Given the description of an element on the screen output the (x, y) to click on. 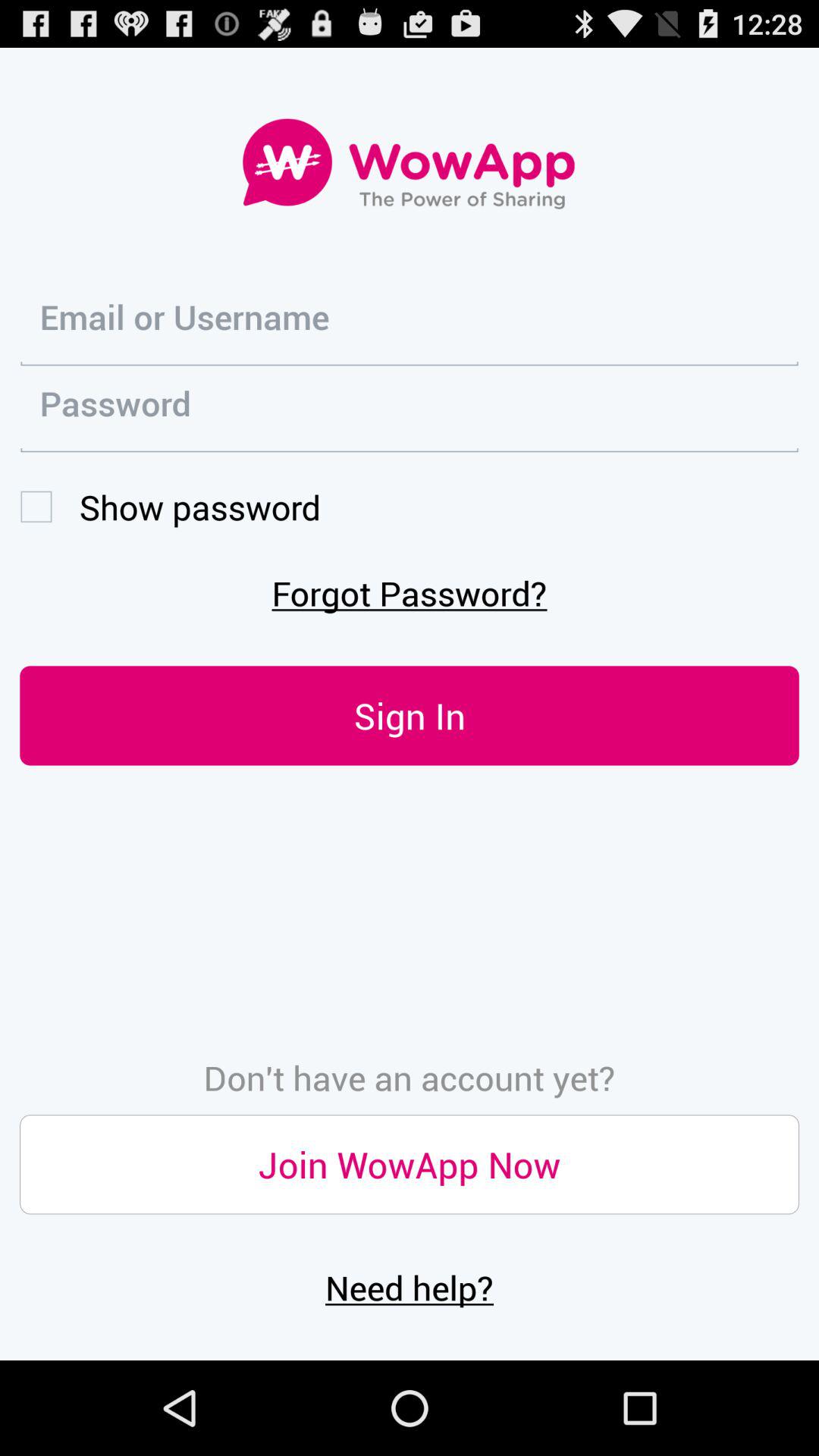
swipe until show password checkbox (169, 507)
